Given the description of an element on the screen output the (x, y) to click on. 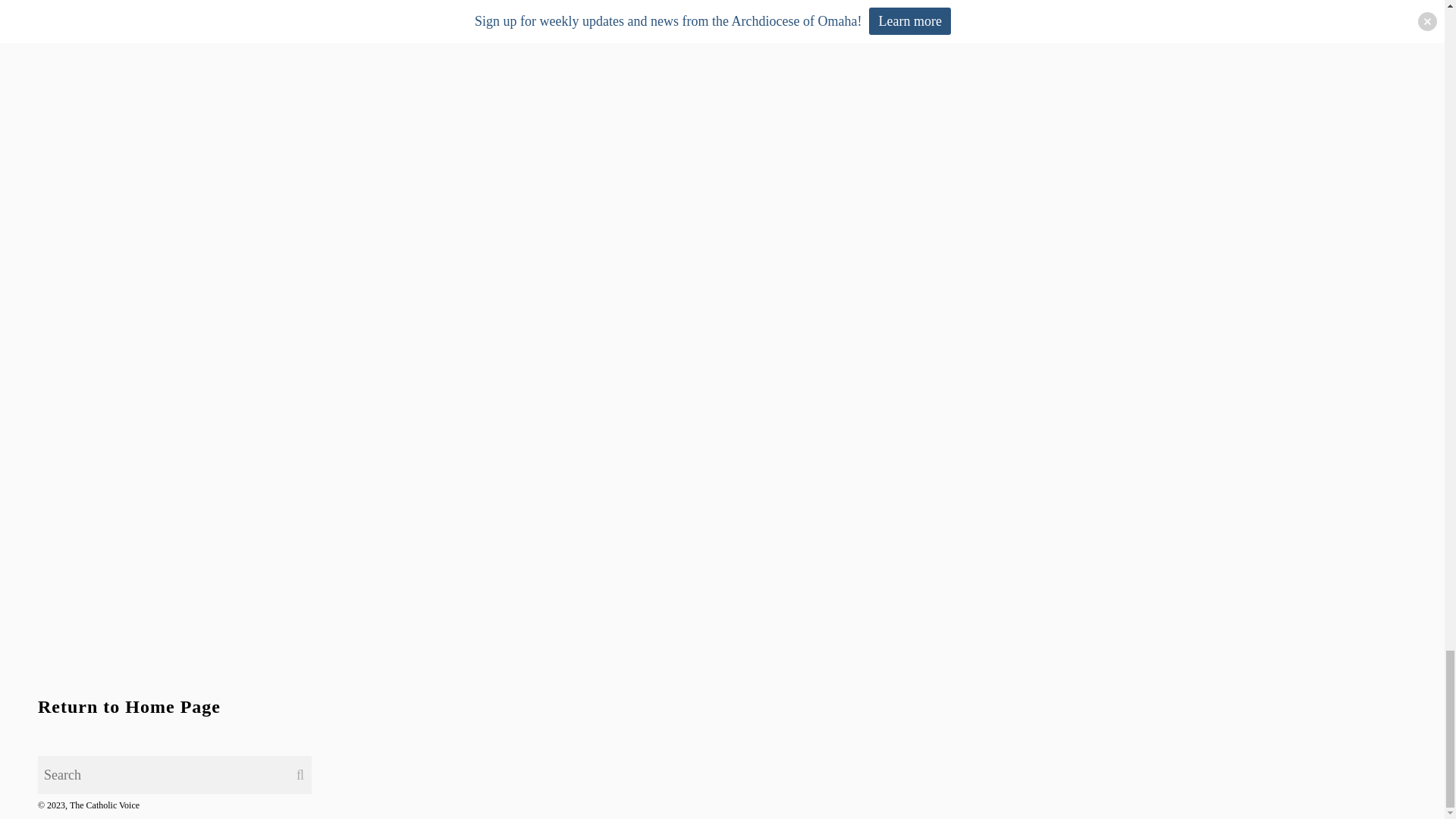
Return to Home Page (129, 706)
